Given the description of an element on the screen output the (x, y) to click on. 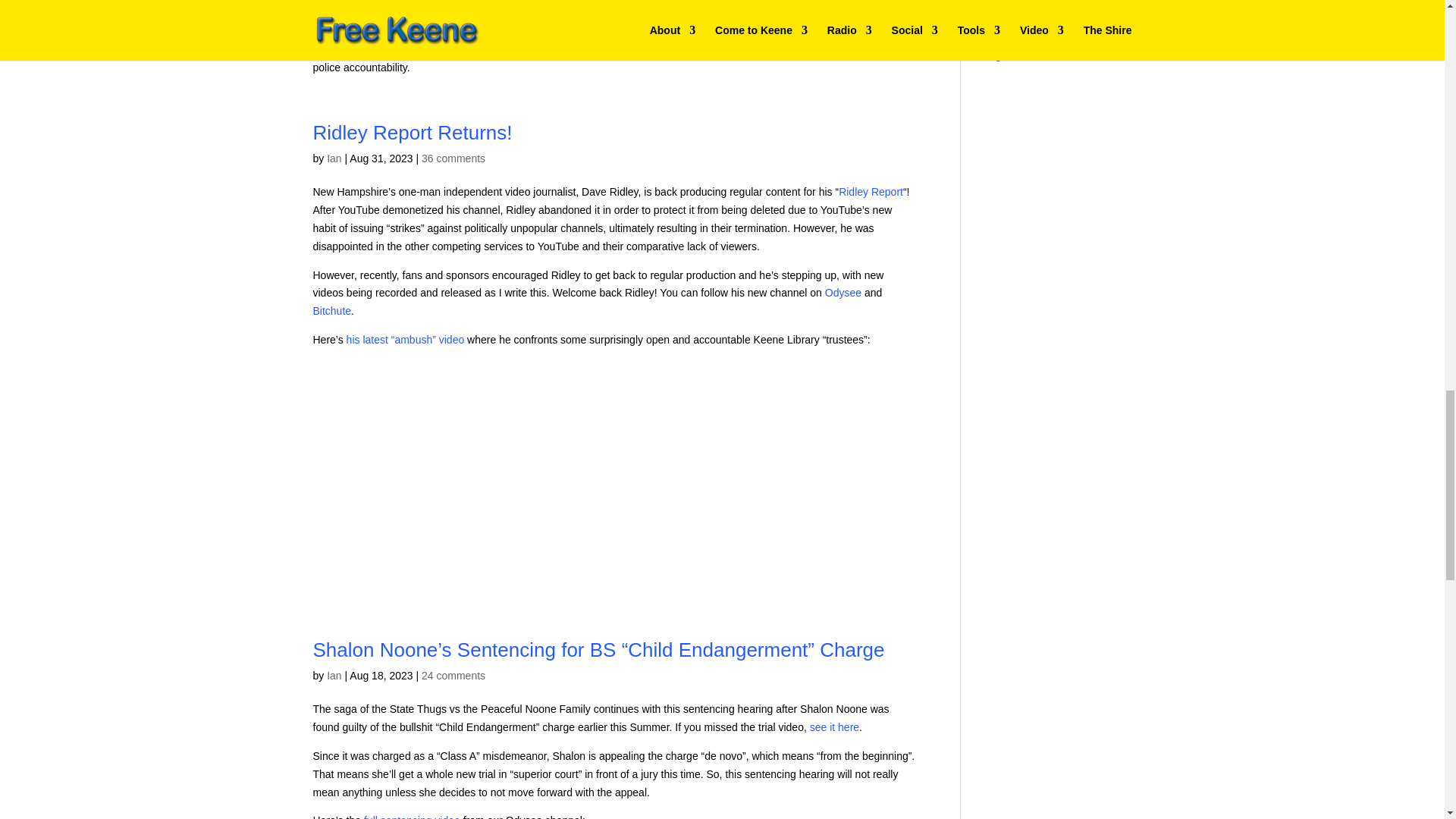
Posts by Ian (333, 675)
Posts by Ian (333, 158)
